Given the description of an element on the screen output the (x, y) to click on. 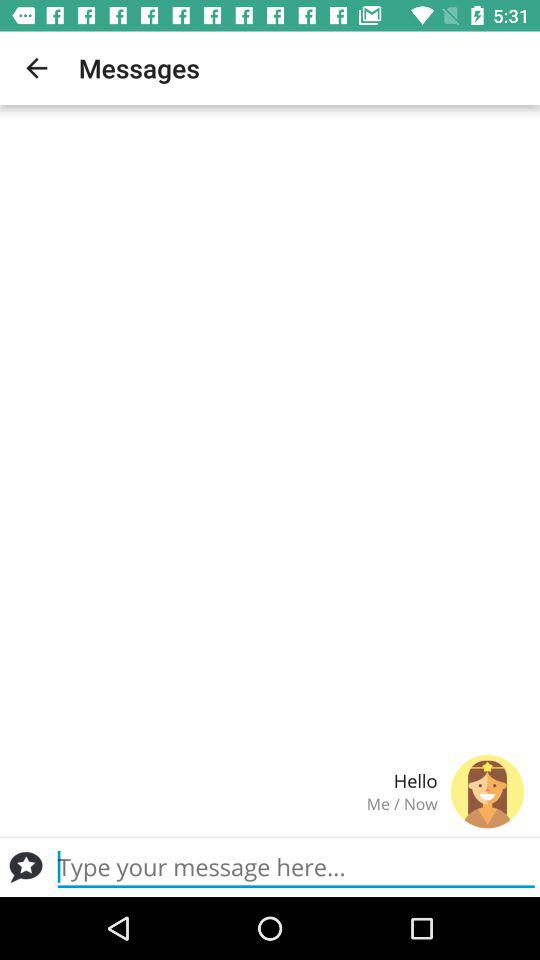
type a message box (26, 867)
